Given the description of an element on the screen output the (x, y) to click on. 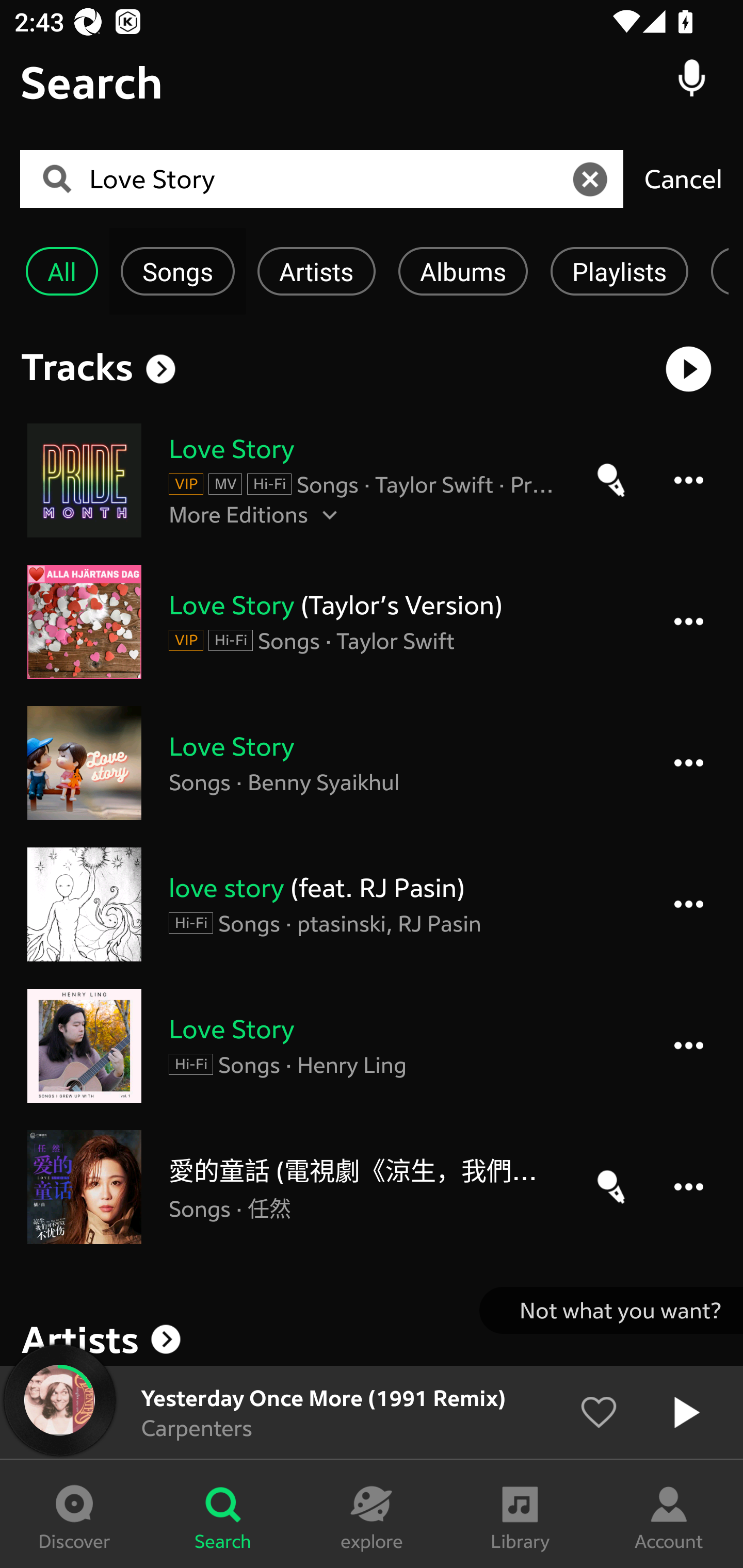
Cancel (683, 178)
Love Story (327, 179)
Songs (177, 271)
Artists (316, 271)
Albums (463, 271)
Playlists (619, 271)
Tracks (77, 365)
More Editions (363, 513)
Love Story Songs · Benny Syaikhul (371, 762)
Love Story Hi-Fi Songs · Henry Ling (371, 1045)
愛的童話 (電視劇《涼生，我們可不可以不憂傷》插曲) Songs · 任然 (371, 1186)
Artists (371, 1338)
Yesterday Once More (1991 Remix) Carpenters (371, 1412)
Discover (74, 1513)
explore (371, 1513)
Library (519, 1513)
Account (668, 1513)
